Given the description of an element on the screen output the (x, y) to click on. 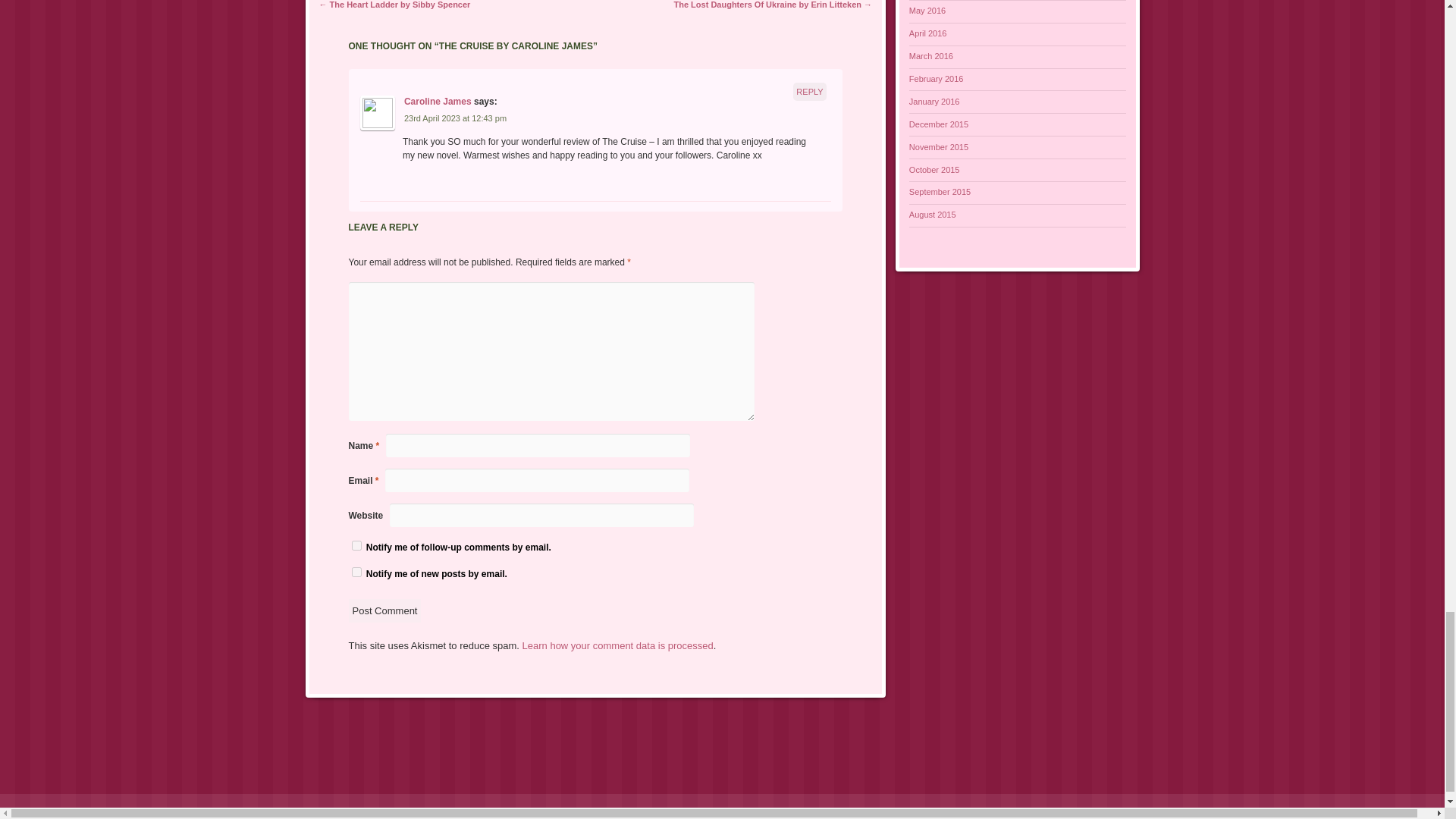
Post Comment (385, 610)
subscribe (356, 572)
Semantic Personal Publishing Platform (108, 809)
Caroline James (437, 101)
subscribe (356, 545)
Post Comment (385, 610)
Learn how your comment data is processed (617, 645)
REPLY (810, 91)
23rd April 2023 at 12:43 pm (455, 117)
